Given the description of an element on the screen output the (x, y) to click on. 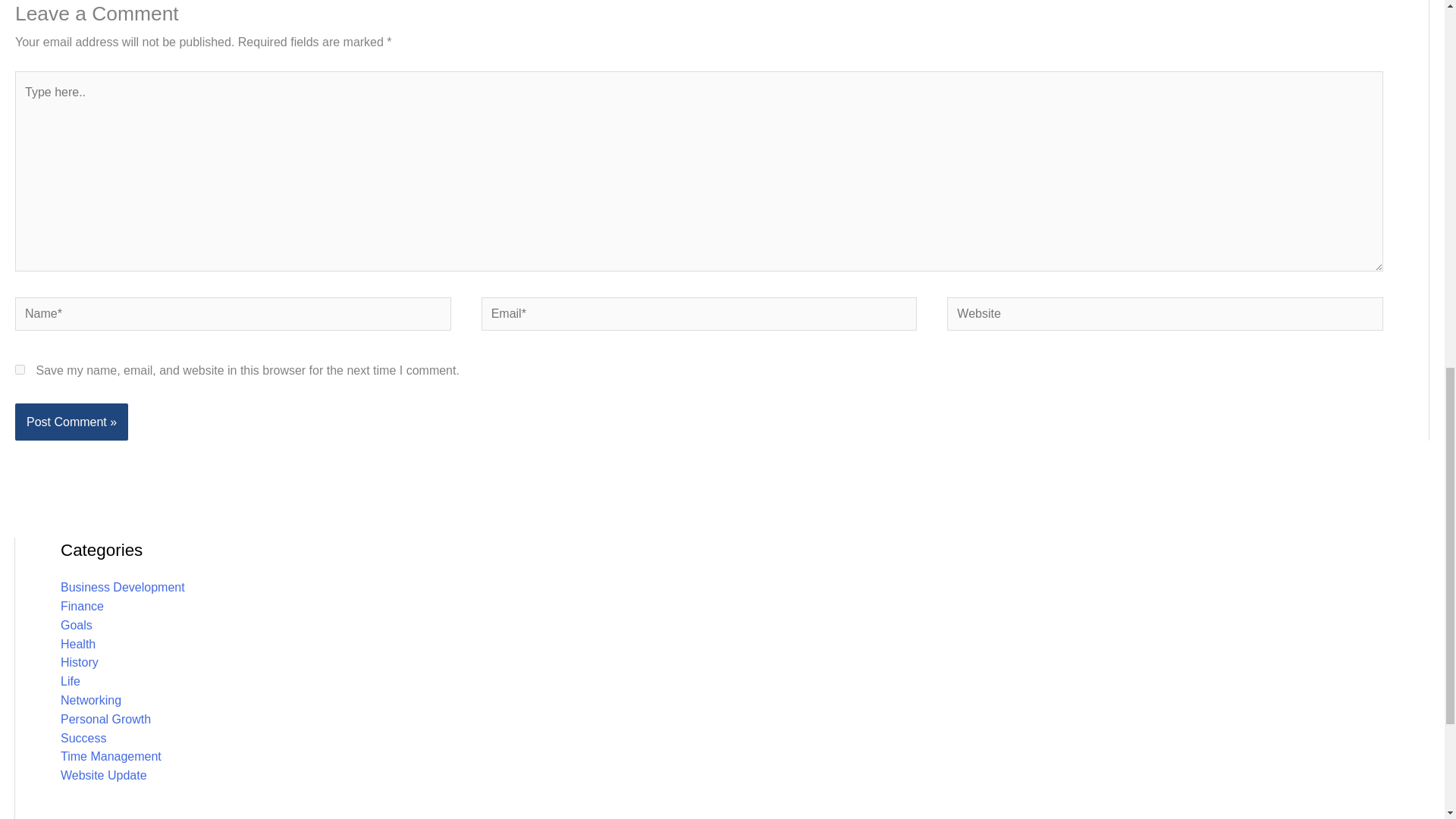
Business Development (122, 586)
History (80, 662)
Finance (82, 605)
Health (78, 644)
Networking (90, 699)
yes (19, 369)
Personal Growth (106, 718)
Website Update (104, 775)
Goals (77, 625)
Life (70, 680)
Success (83, 738)
Time Management (111, 756)
